Given the description of an element on the screen output the (x, y) to click on. 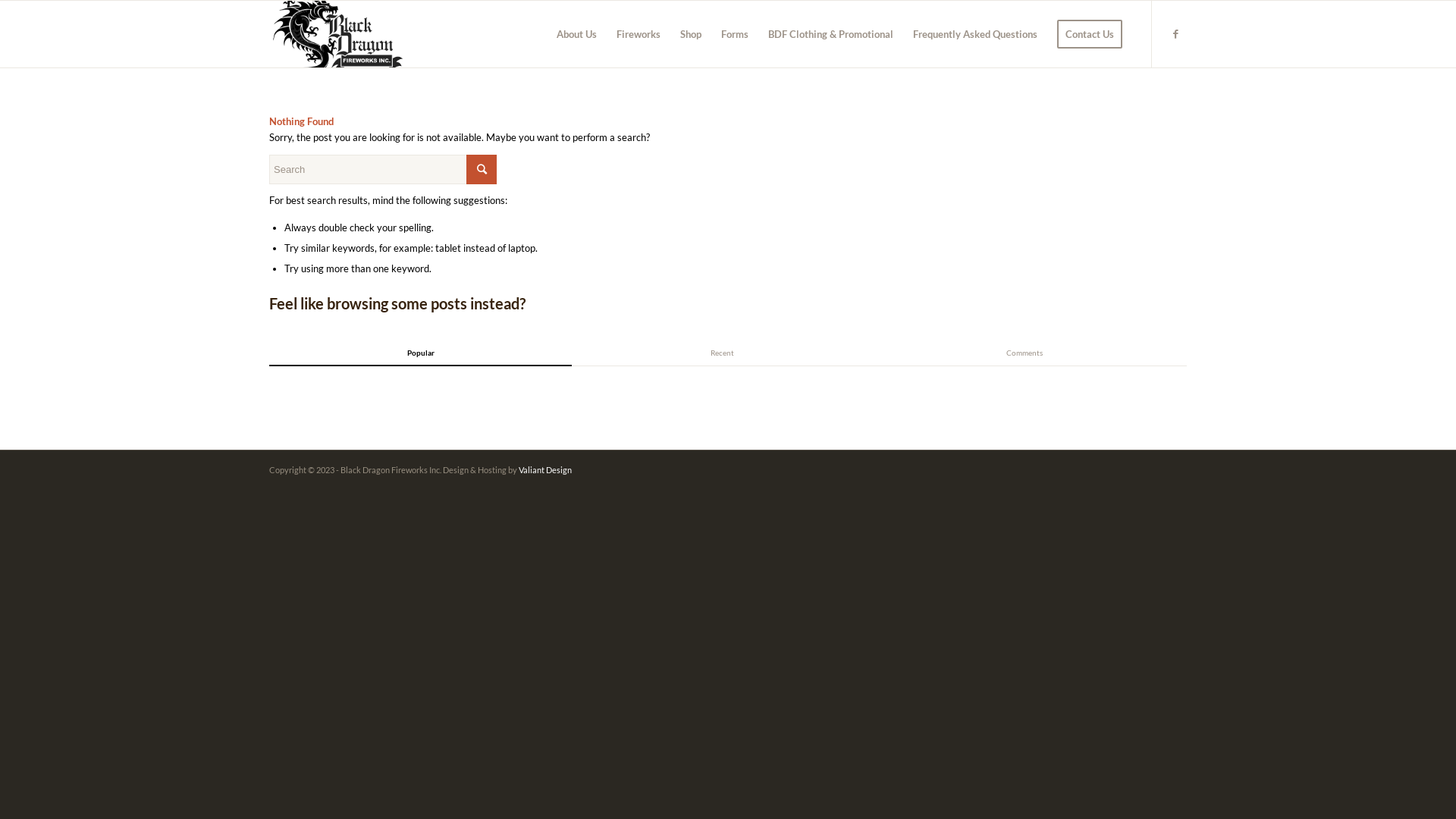
Facebook Element type: hover (1175, 32)
Shop Element type: text (690, 33)
Frequently Asked Questions Element type: text (975, 33)
Forms Element type: text (734, 33)
Valiant Design Element type: text (544, 469)
BDF Clothing & Promotional Element type: text (830, 33)
Contact Us Element type: text (1089, 33)
About Us Element type: text (576, 33)
Fireworks Element type: text (638, 33)
